Given the description of an element on the screen output the (x, y) to click on. 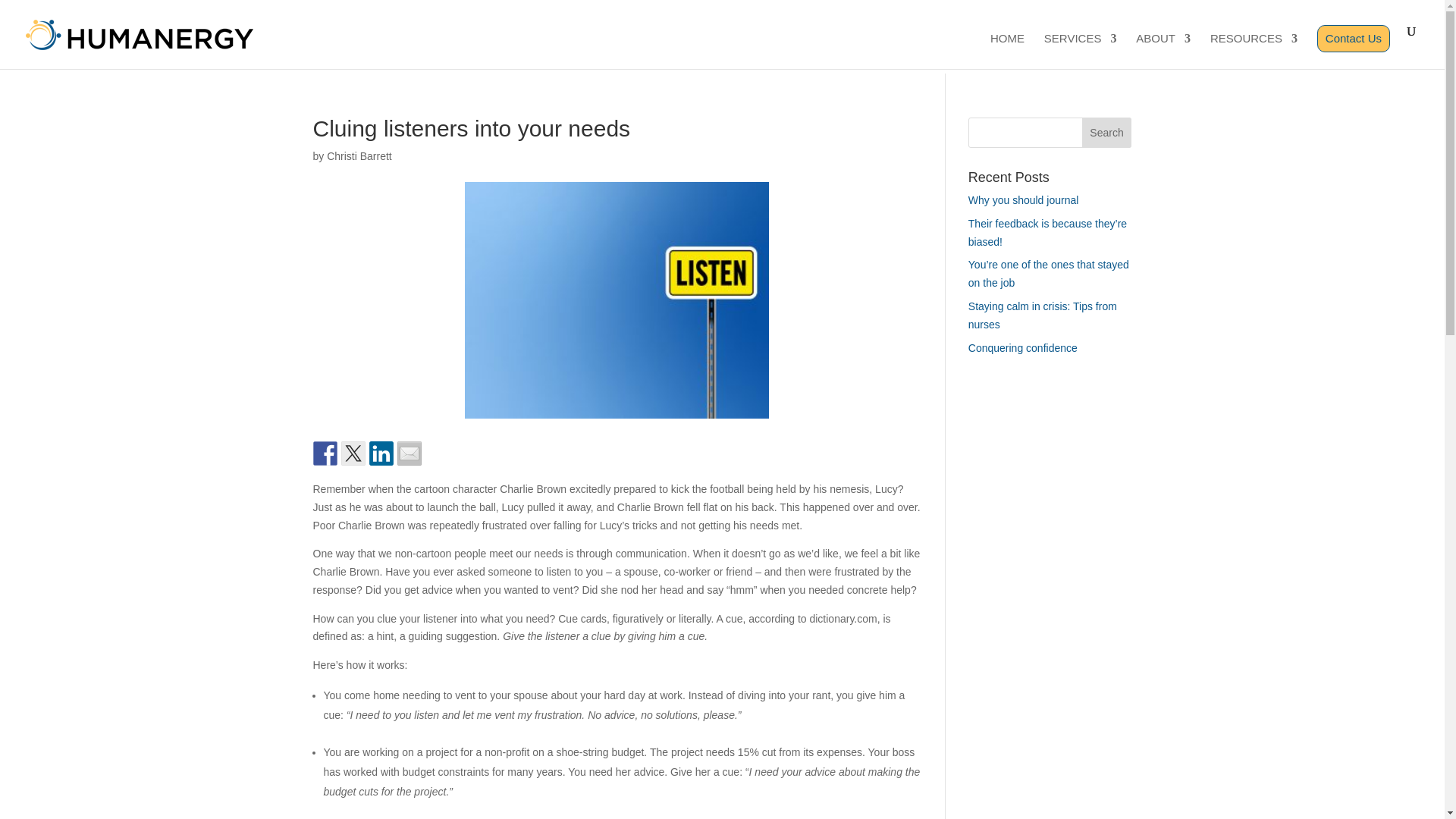
Share on Twitter (352, 453)
Christi Barrett (358, 155)
SERVICES (1079, 50)
Search (1106, 132)
Share on Linkedin (380, 453)
HOME (1007, 50)
Share by email (409, 453)
RESOURCES (1253, 50)
Contact Us (1353, 38)
Posts by Christi Barrett (358, 155)
Share on Facebook (324, 453)
ABOUT (1163, 50)
